Given the description of an element on the screen output the (x, y) to click on. 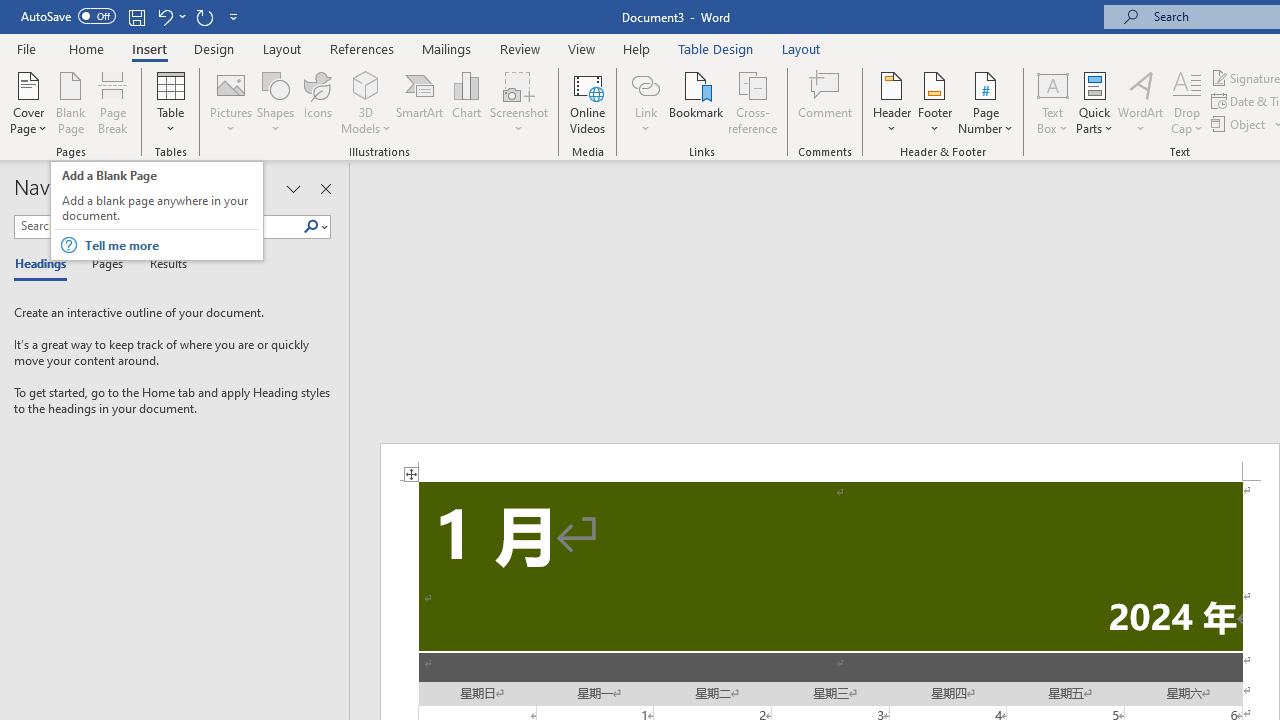
Link (645, 102)
Header (891, 102)
Object... (1240, 124)
Cross-reference... (752, 102)
Online Videos... (588, 102)
3D Models (366, 84)
Quick Parts (1094, 102)
